Given the description of an element on the screen output the (x, y) to click on. 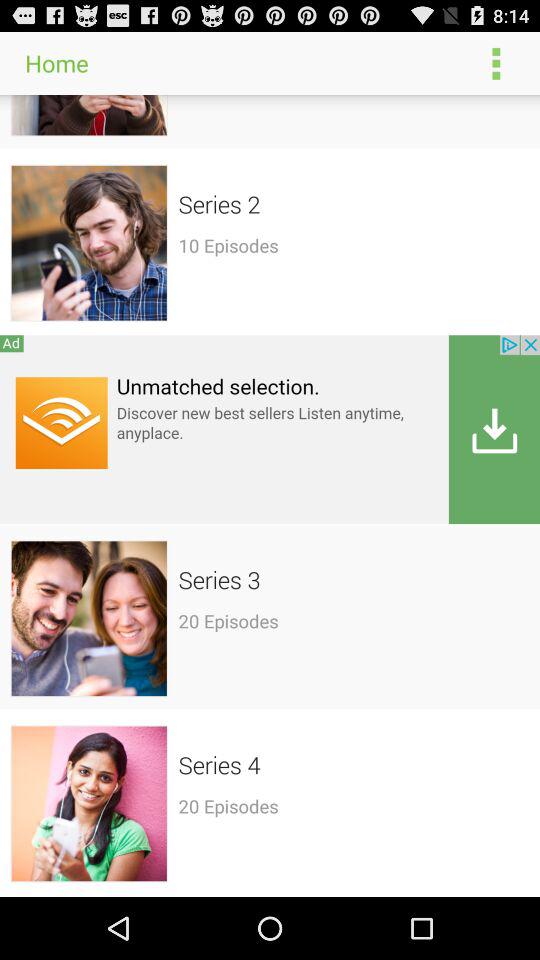
open audible advertisement (270, 428)
